Given the description of an element on the screen output the (x, y) to click on. 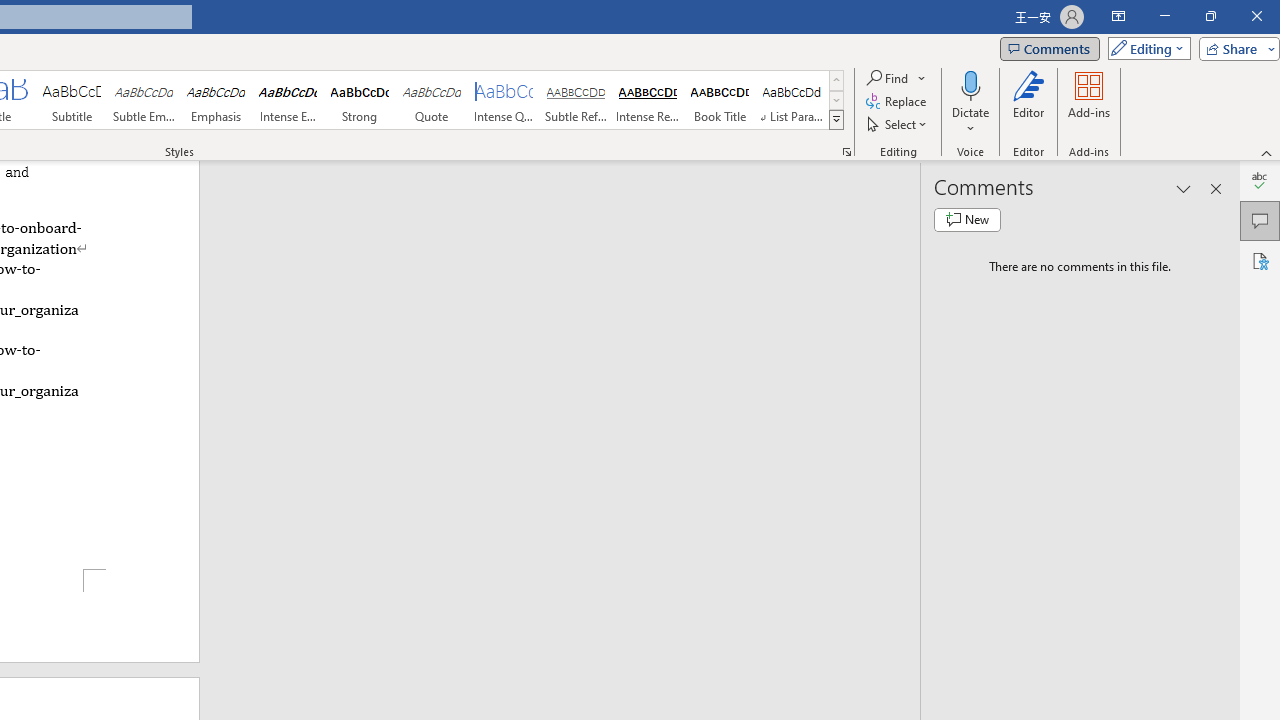
More Options (970, 121)
Subtle Reference (575, 100)
Book Title (719, 100)
Find (896, 78)
Collapse the Ribbon (1267, 152)
Comments (1260, 220)
Subtitle (71, 100)
Task Pane Options (1183, 188)
Styles (836, 120)
Styles... (846, 151)
Editor (1028, 102)
Intense Quote (504, 100)
Comments (1049, 48)
Row up (836, 79)
